Given the description of an element on the screen output the (x, y) to click on. 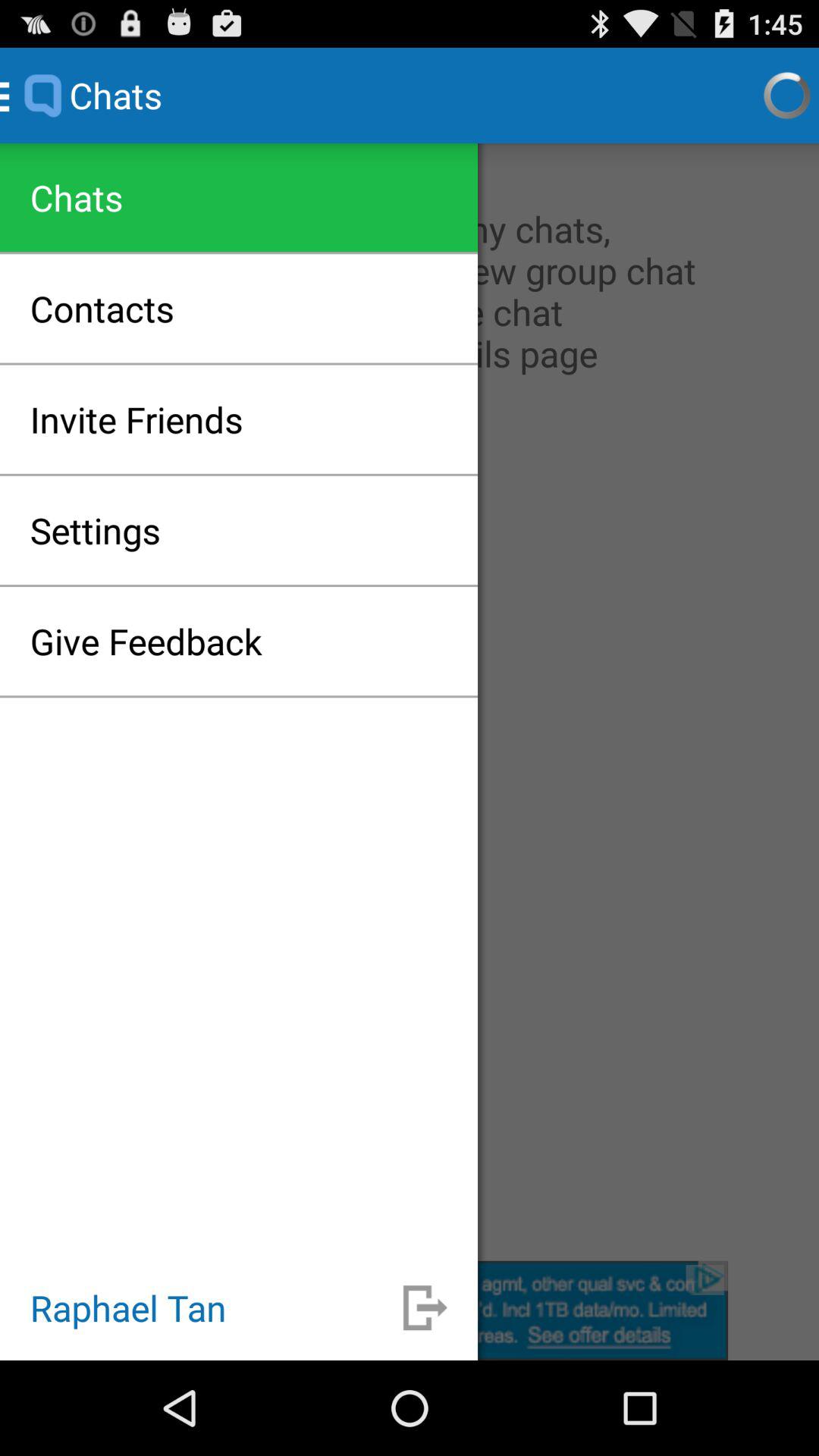
select the icon above the invite friends item (102, 308)
